Given the description of an element on the screen output the (x, y) to click on. 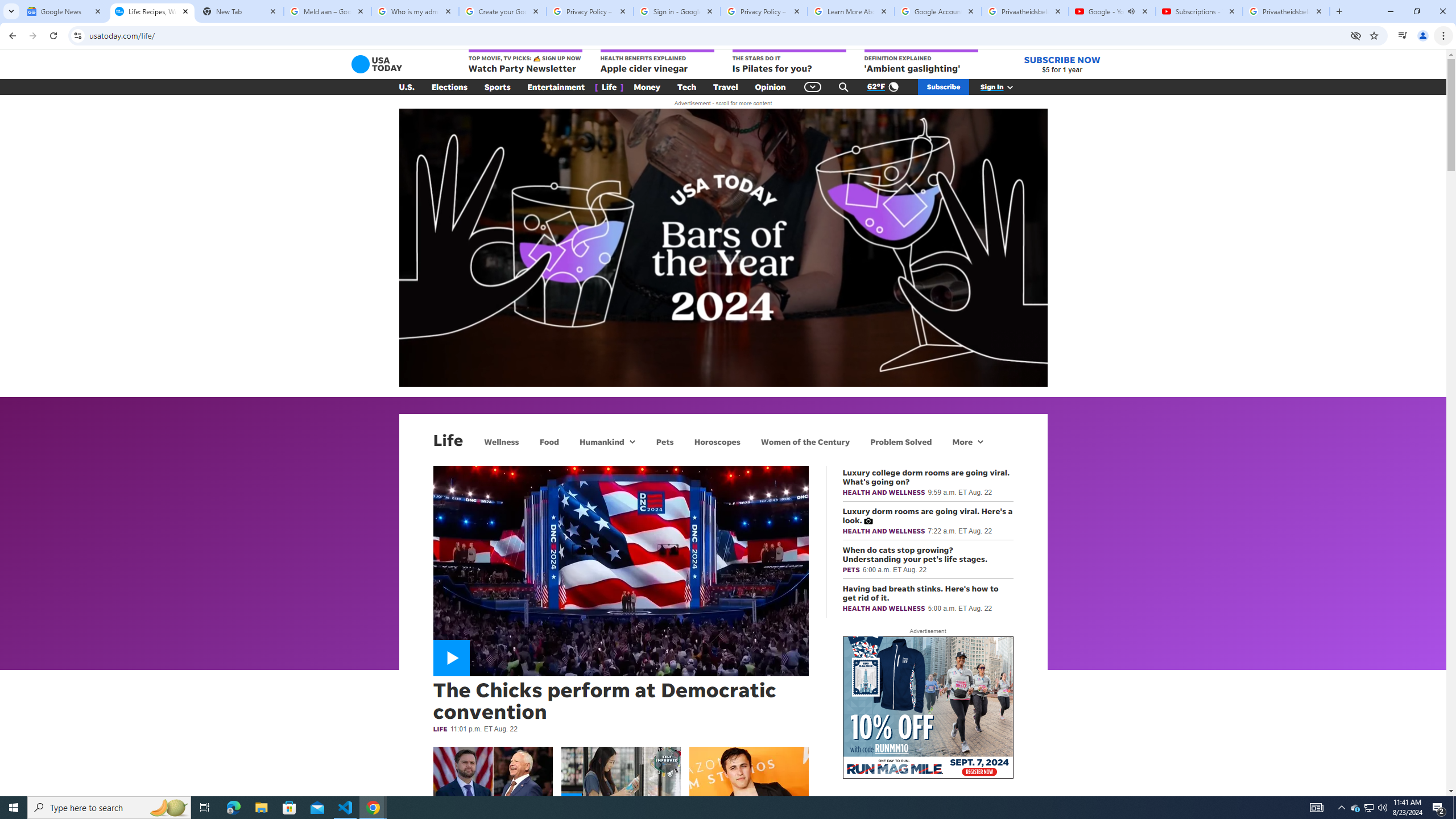
Food (549, 441)
Tech (686, 87)
Opinion (770, 87)
Who is my administrator? - Google Account Help (415, 11)
Horoscopes (717, 441)
USA TODAY (376, 64)
